Given the description of an element on the screen output the (x, y) to click on. 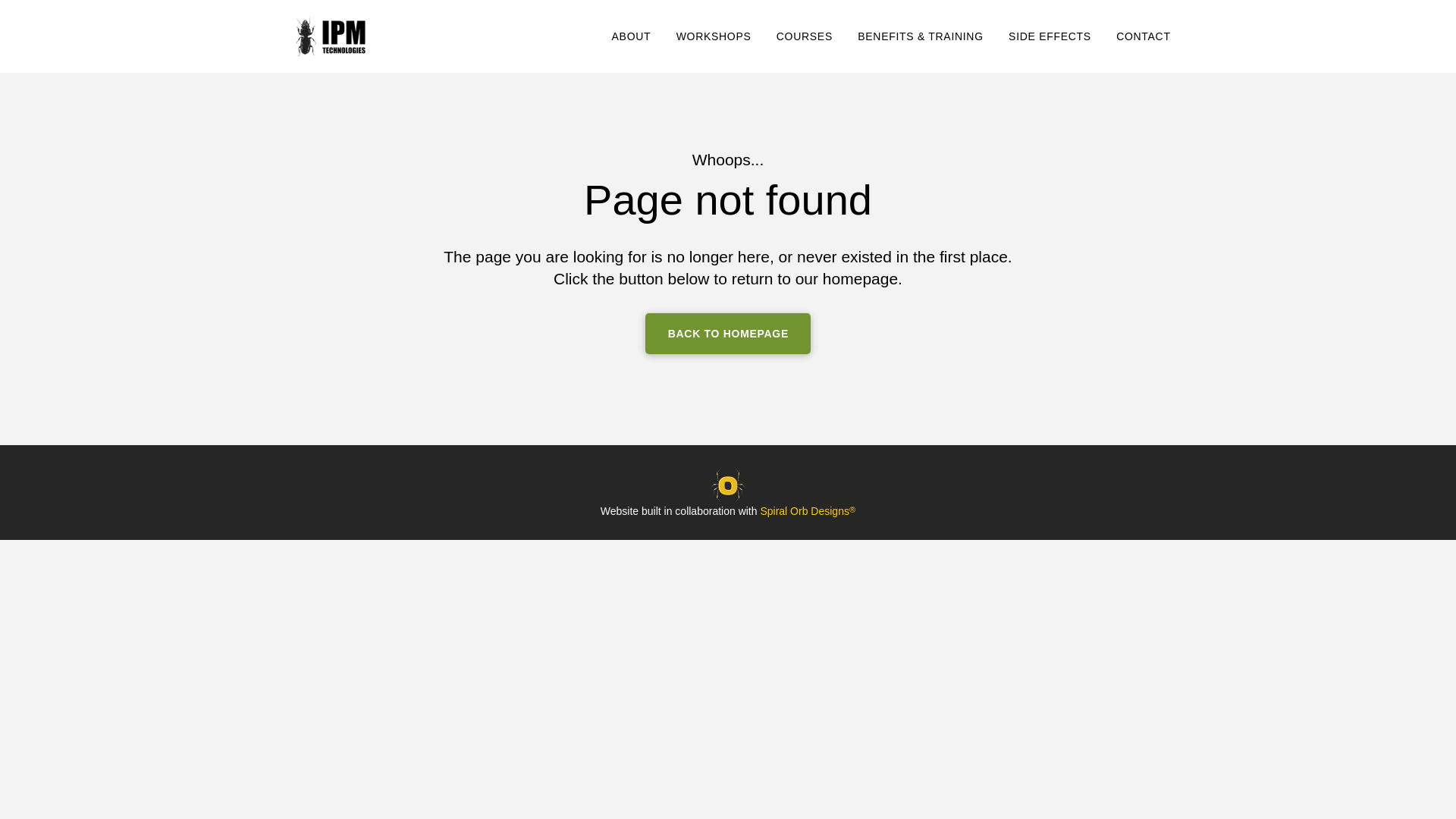
CONTACT (1142, 36)
BACK TO HOMEPAGE (727, 332)
COURSES (803, 36)
WORKSHOPS (712, 36)
SIDE EFFECTS (1049, 36)
